Given the description of an element on the screen output the (x, y) to click on. 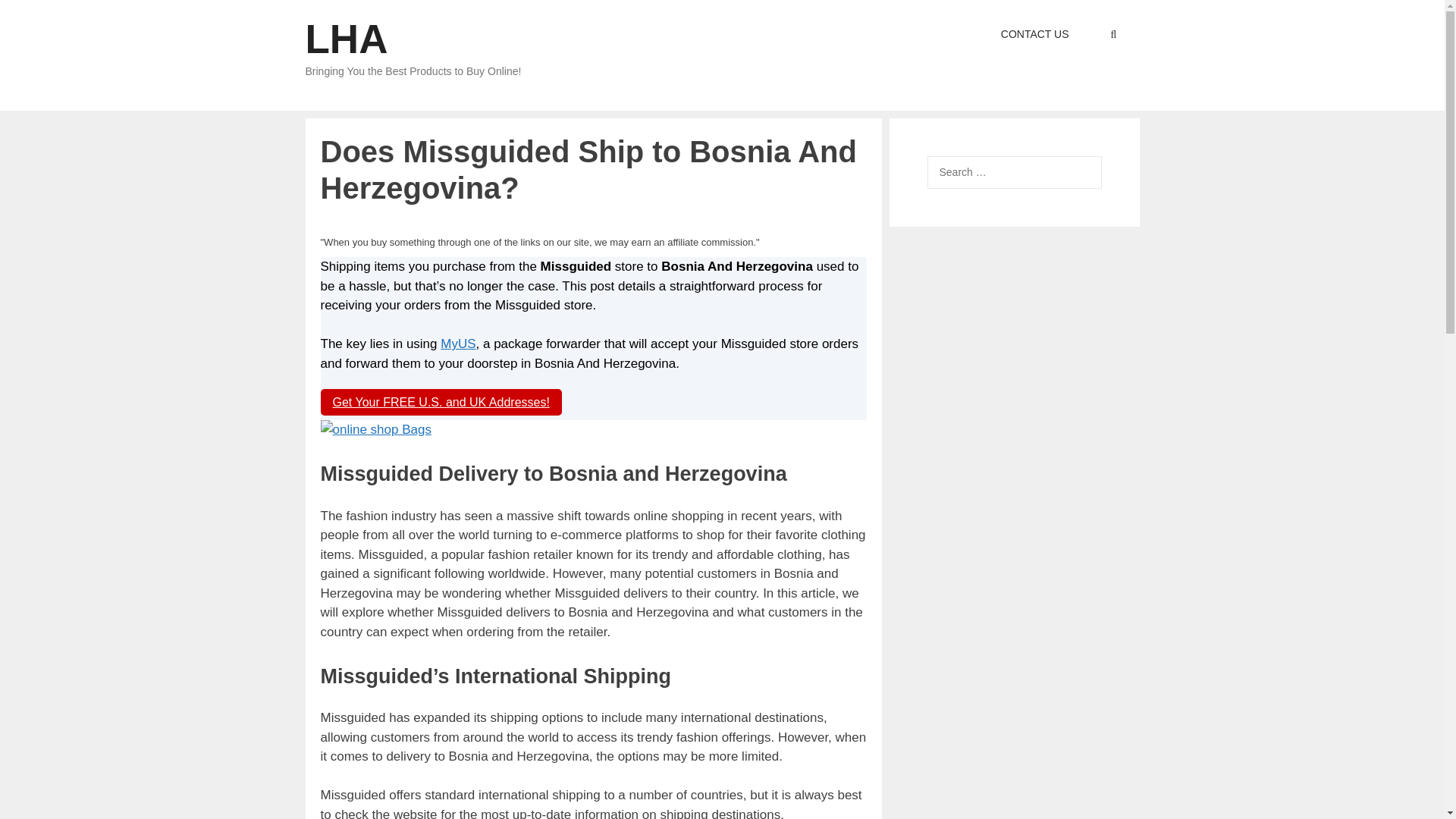
MyUS (458, 343)
Get Your FREE U.S. and UK Addresses! (440, 402)
Search (36, 15)
Search for: (1013, 172)
LHA (345, 38)
CONTACT US (1034, 34)
